Given the description of an element on the screen output the (x, y) to click on. 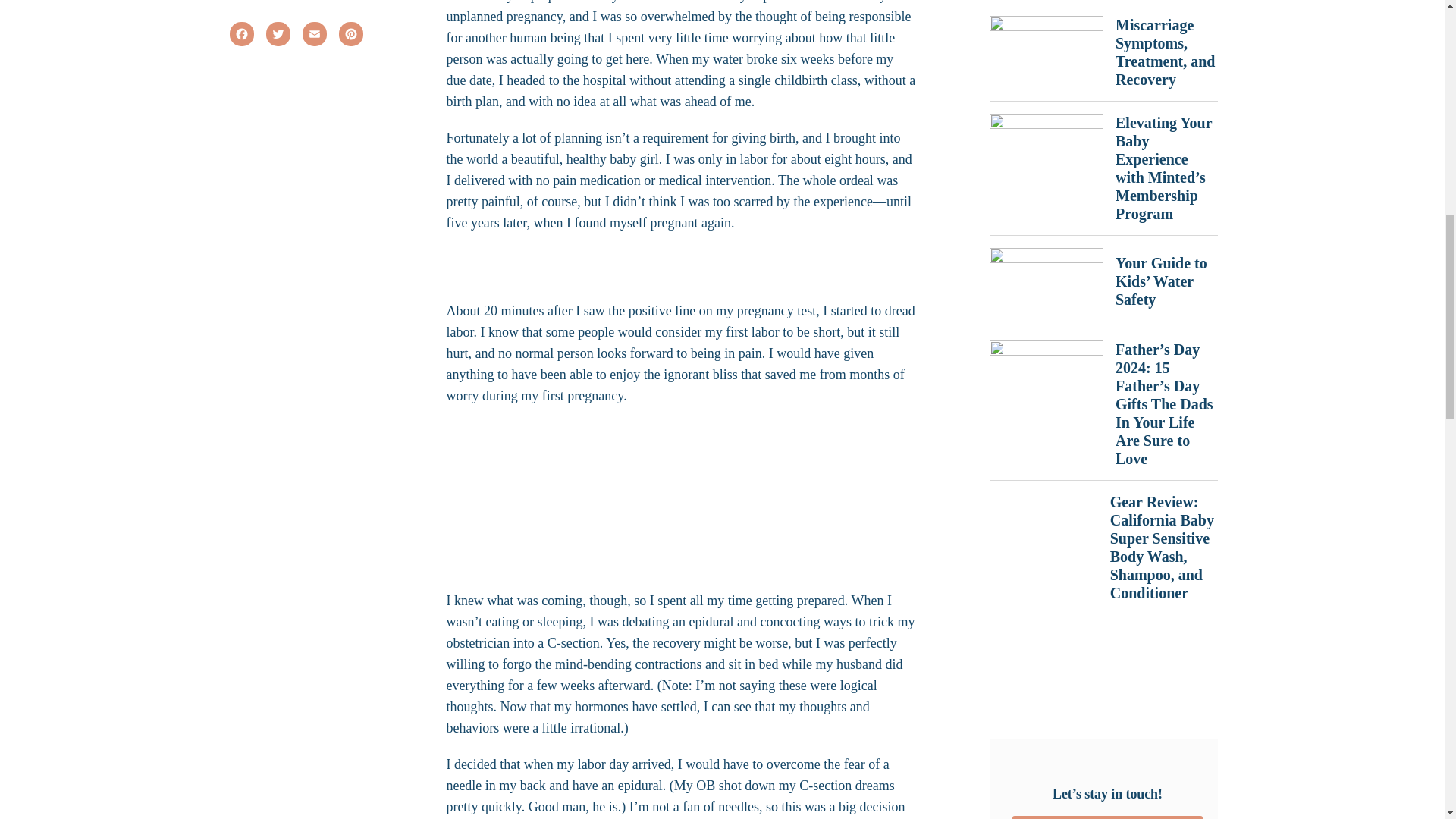
Facebook (245, 35)
Email (317, 35)
Pinterest (354, 35)
Twitter (281, 35)
